Given the description of an element on the screen output the (x, y) to click on. 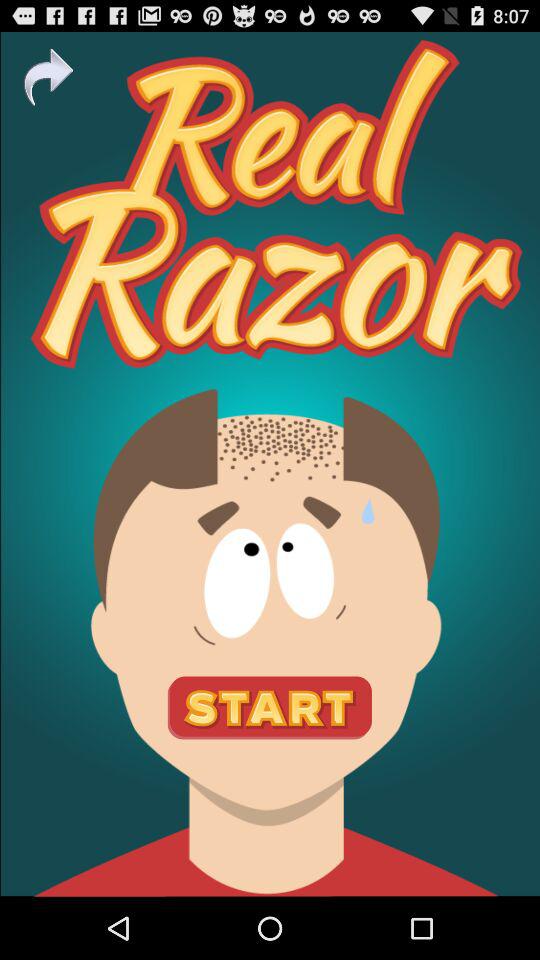
turn on item at the bottom (269, 707)
